Given the description of an element on the screen output the (x, y) to click on. 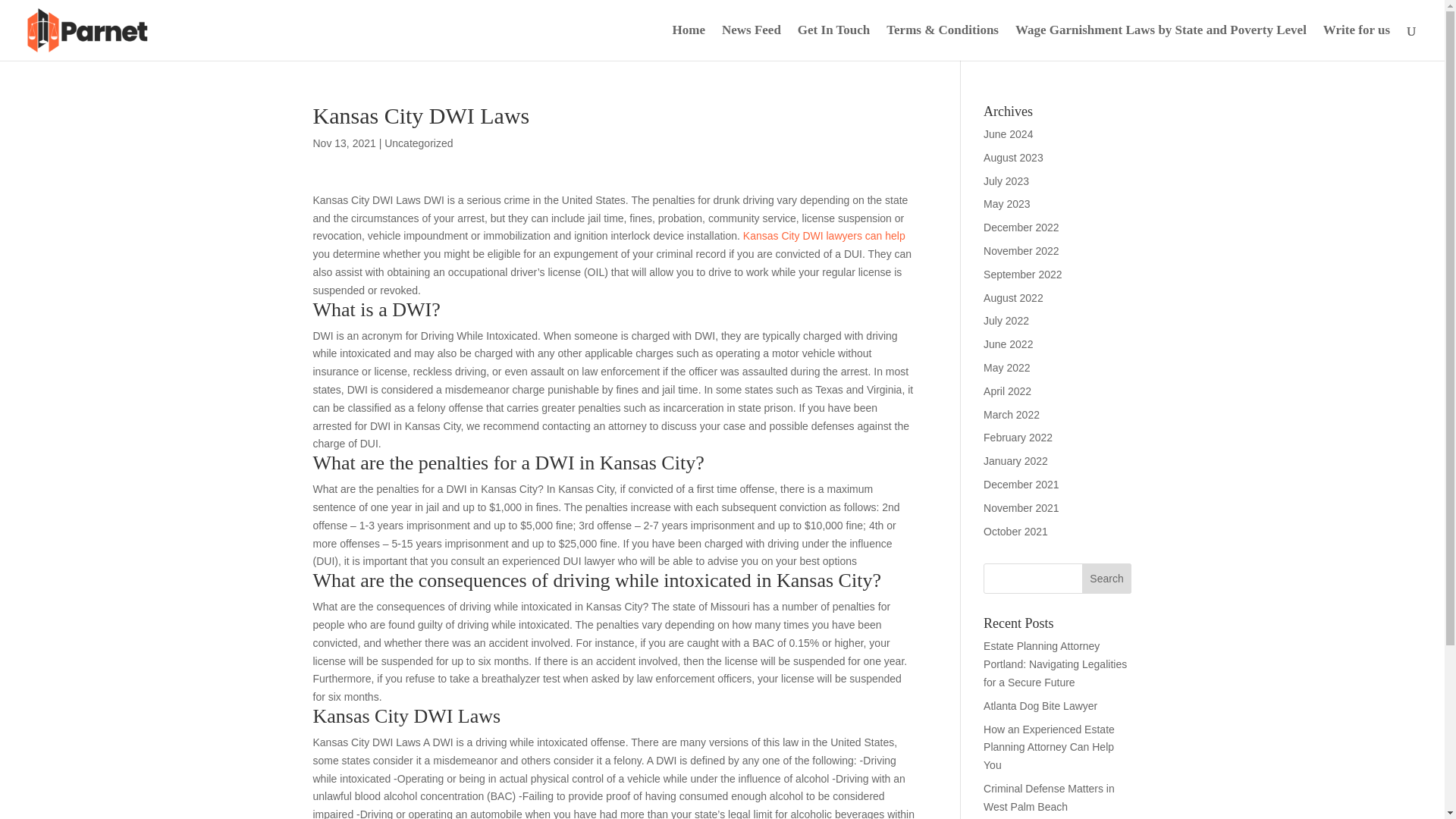
July 2022 (1006, 320)
May 2023 (1006, 203)
Search (1106, 578)
Kansas City DWI lawyers can help (823, 235)
November 2021 (1021, 508)
February 2022 (1018, 437)
August 2022 (1013, 297)
November 2022 (1021, 250)
Write for us (1356, 42)
Get In Touch (833, 42)
March 2022 (1011, 414)
Home (687, 42)
September 2022 (1023, 274)
News Feed (751, 42)
